Given the description of an element on the screen output the (x, y) to click on. 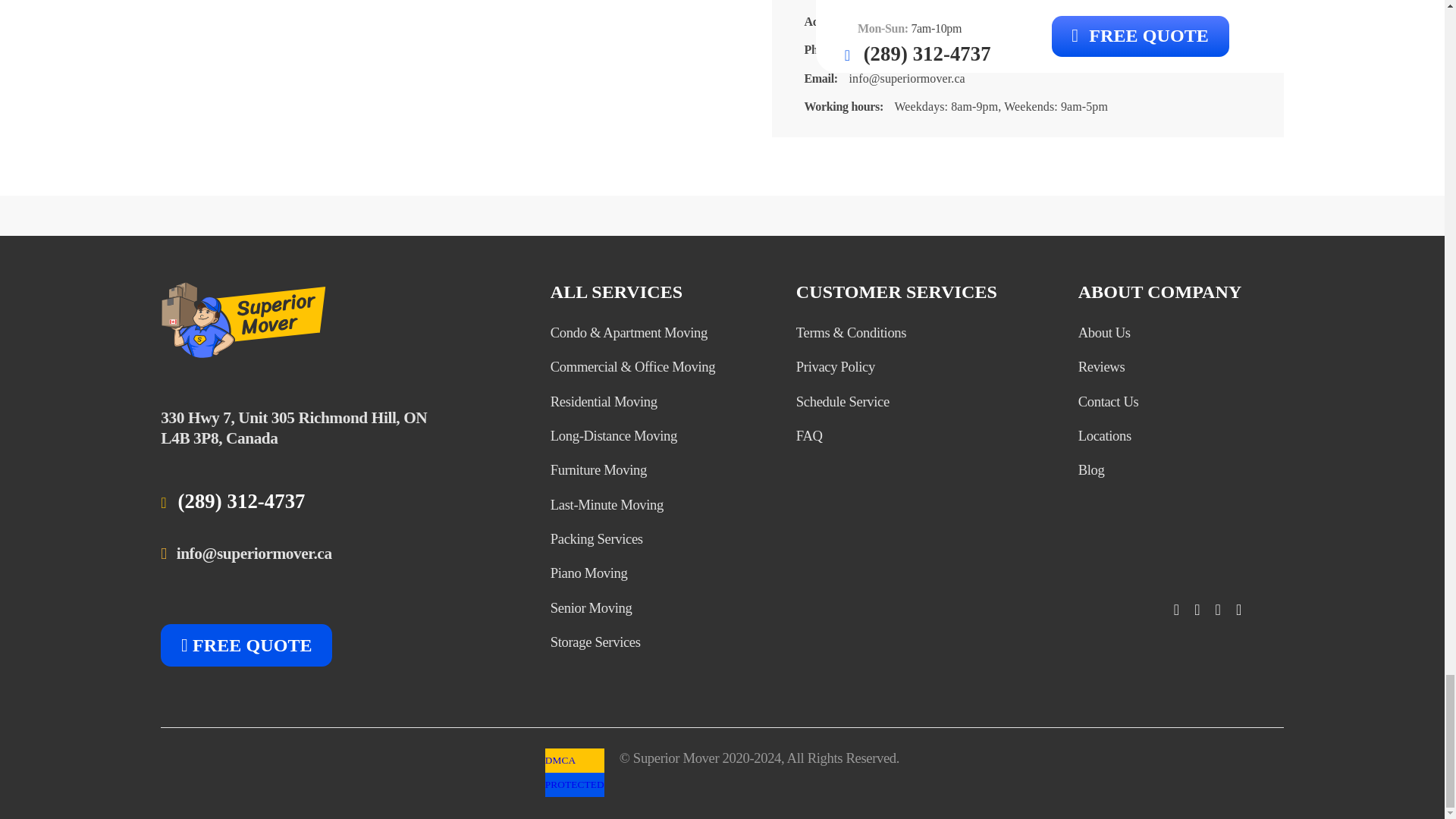
DMCA (574, 784)
DMCA (559, 759)
